Given the description of an element on the screen output the (x, y) to click on. 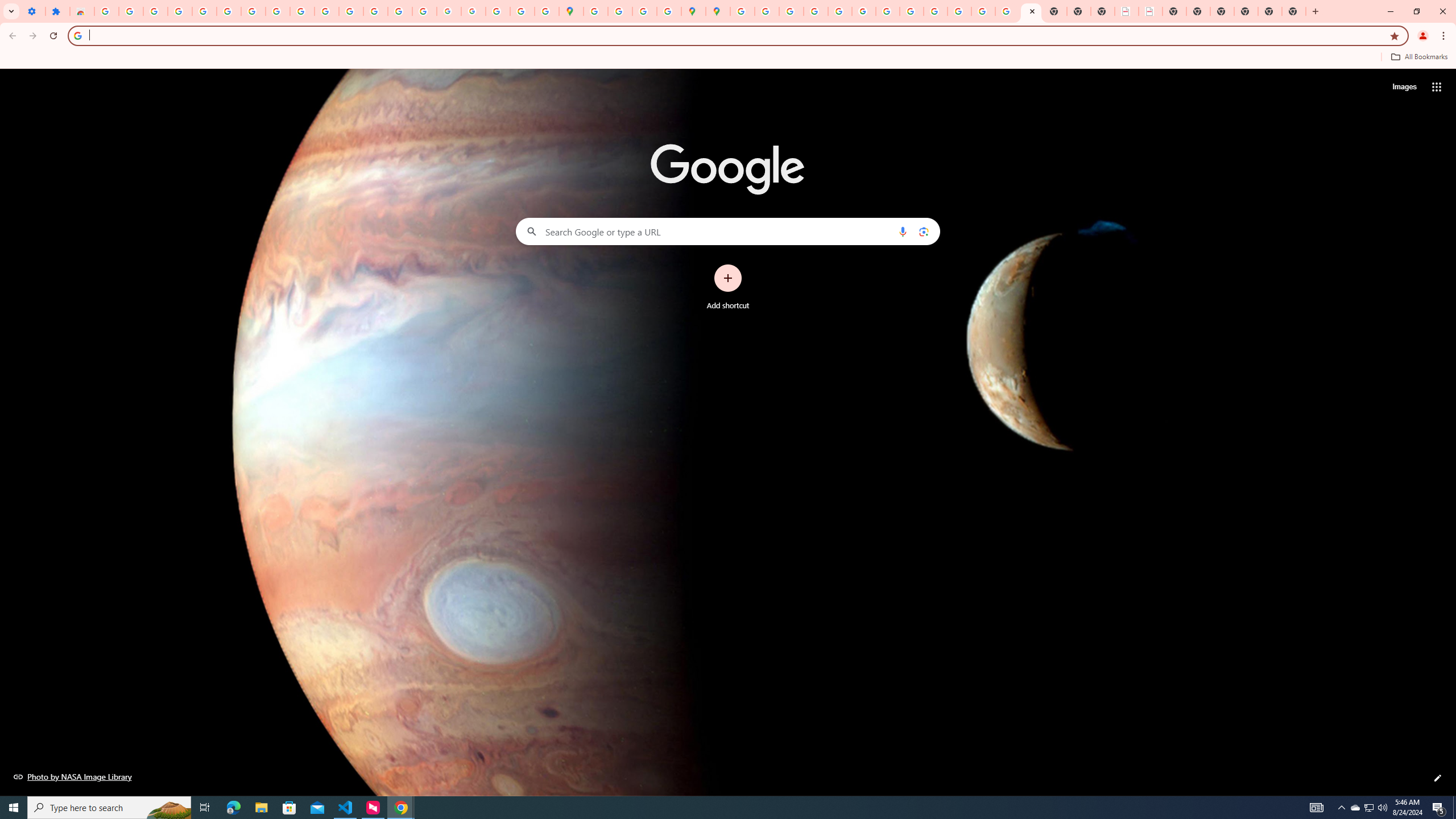
Delete photos & videos - Computer - Google Photos Help (155, 11)
Google Account (277, 11)
YouTube (302, 11)
